Given the description of an element on the screen output the (x, y) to click on. 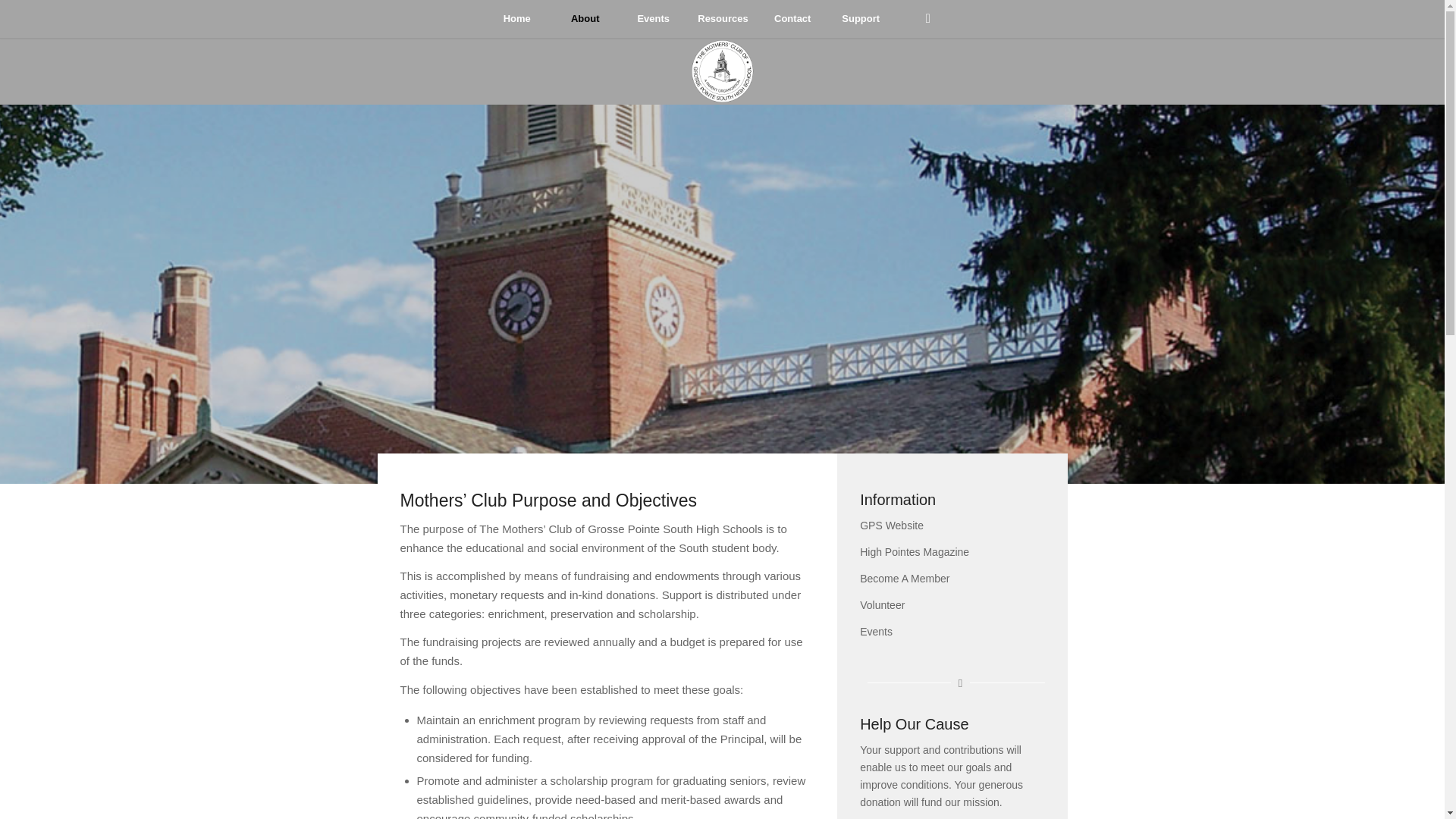
Support (861, 18)
Events (652, 18)
Contact (792, 18)
About (584, 18)
Home (515, 18)
Resources (722, 18)
